Given the description of an element on the screen output the (x, y) to click on. 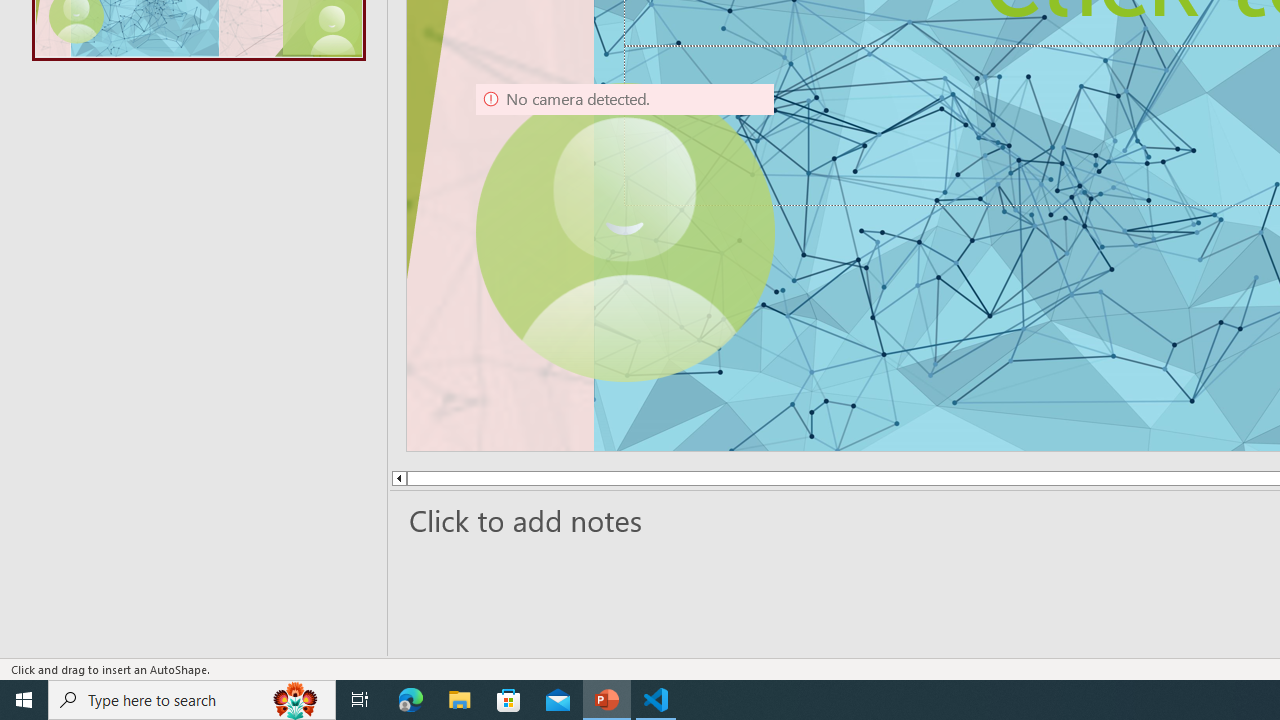
Camera 9, No camera detected. (624, 232)
